Given the description of an element on the screen output the (x, y) to click on. 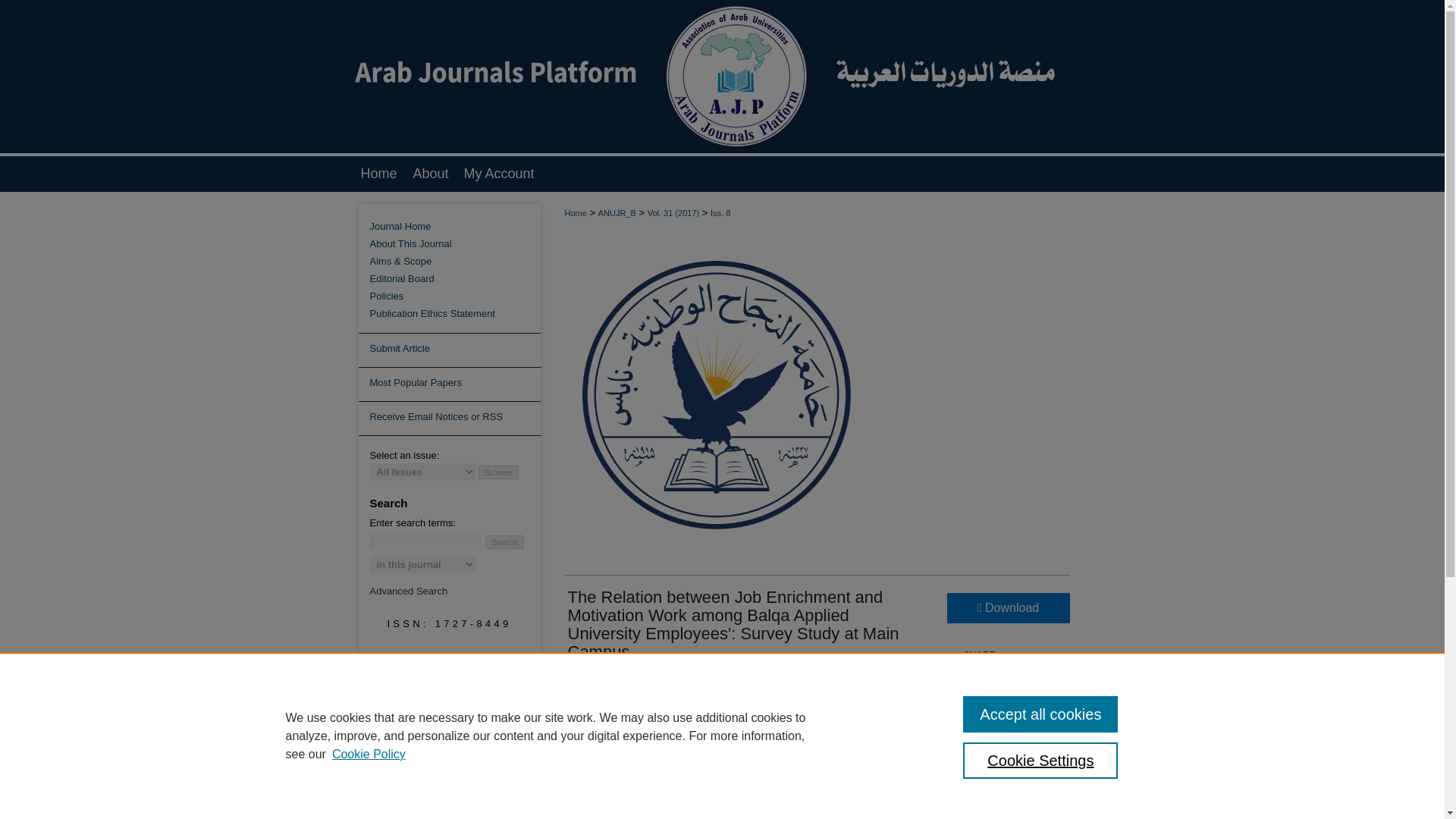
Submit Article (449, 350)
Home (376, 173)
About This Journal (454, 243)
Home (376, 173)
Browse (498, 472)
WhatsApp (1016, 679)
Most Popular Papers (449, 384)
About (430, 173)
Advanced Search (408, 591)
Search (504, 541)
Editorial Board (454, 278)
Receive notifications of new content (449, 418)
My Account (497, 173)
Journal Home (454, 225)
